Given the description of an element on the screen output the (x, y) to click on. 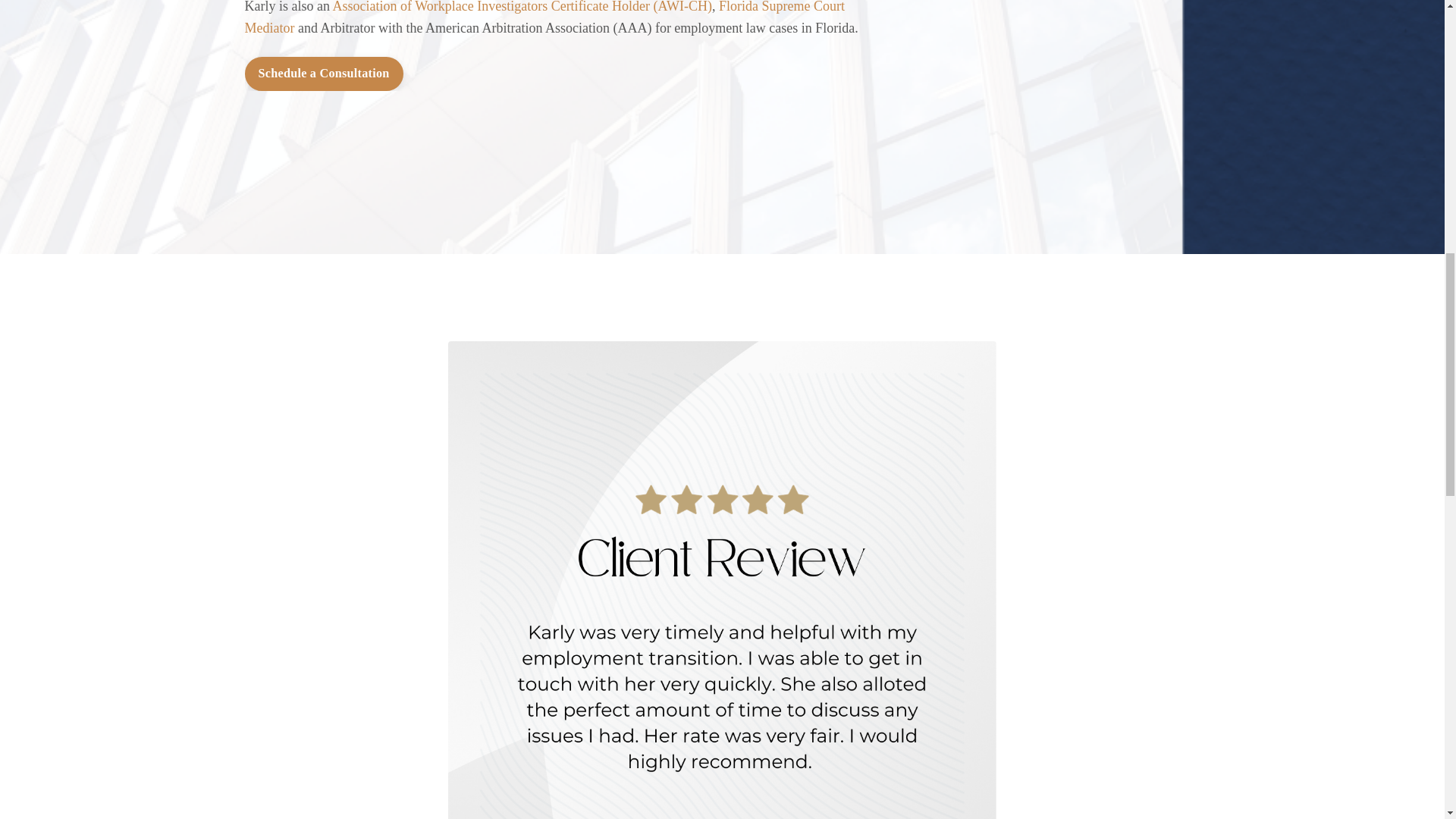
Florida Supreme Court Mediator (544, 18)
Schedule a Consultation (323, 73)
